Given the description of an element on the screen output the (x, y) to click on. 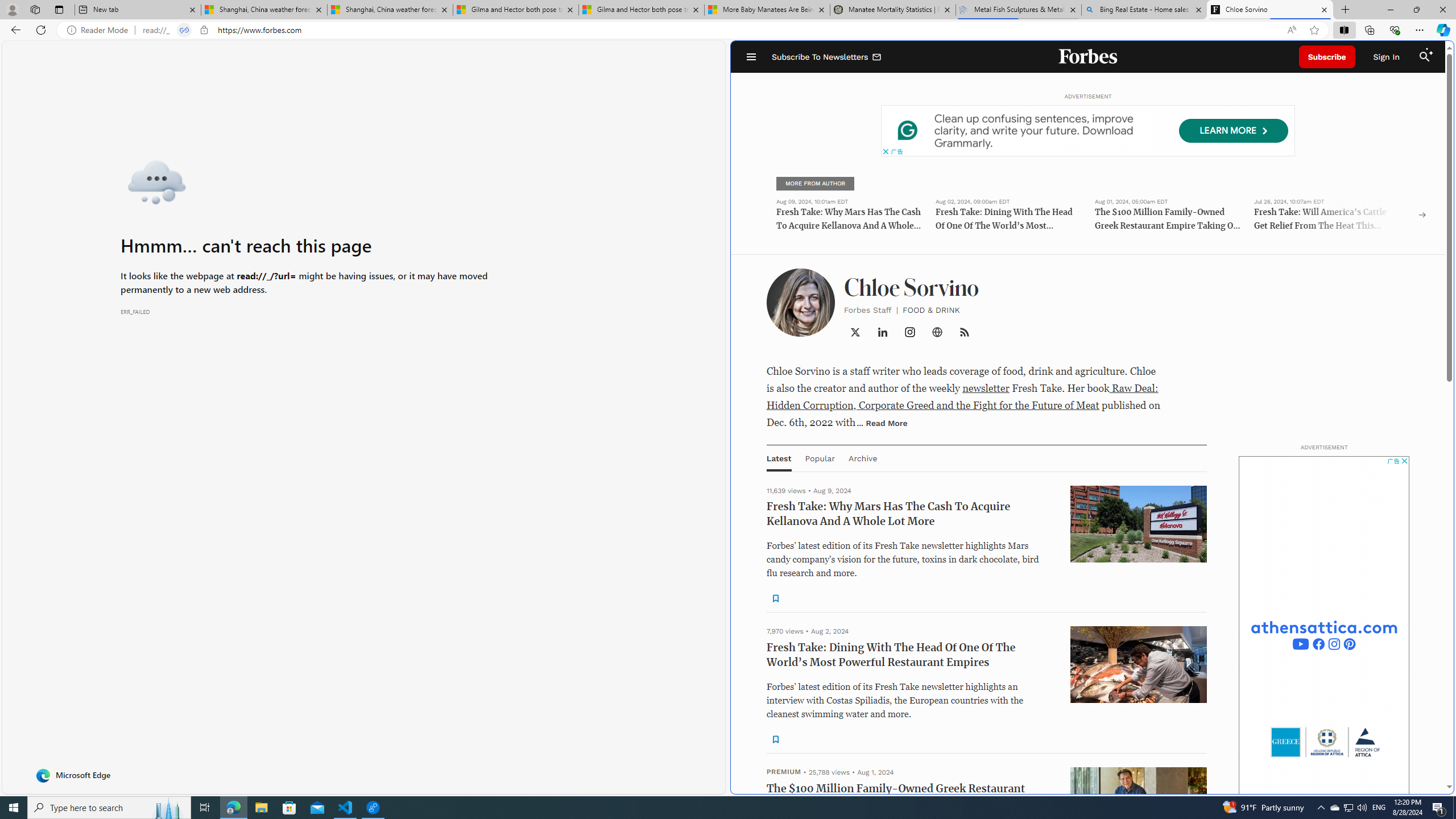
Gilma and Hector both pose tropical trouble for Hawaii (641, 9)
Class: search_svg__fs-icon search_svg__fs-icon--search (1424, 56)
Sign In (1386, 56)
Class: j2XH_ (964, 331)
Class: sElHJWe4 NQX0jJYe (774, 738)
Shanghai, China weather forecast | Microsoft Weather (389, 9)
Class: sparkles_svg__fs-icon sparkles_svg__fs-icon--sparkles (1430, 51)
